Given the description of an element on the screen output the (x, y) to click on. 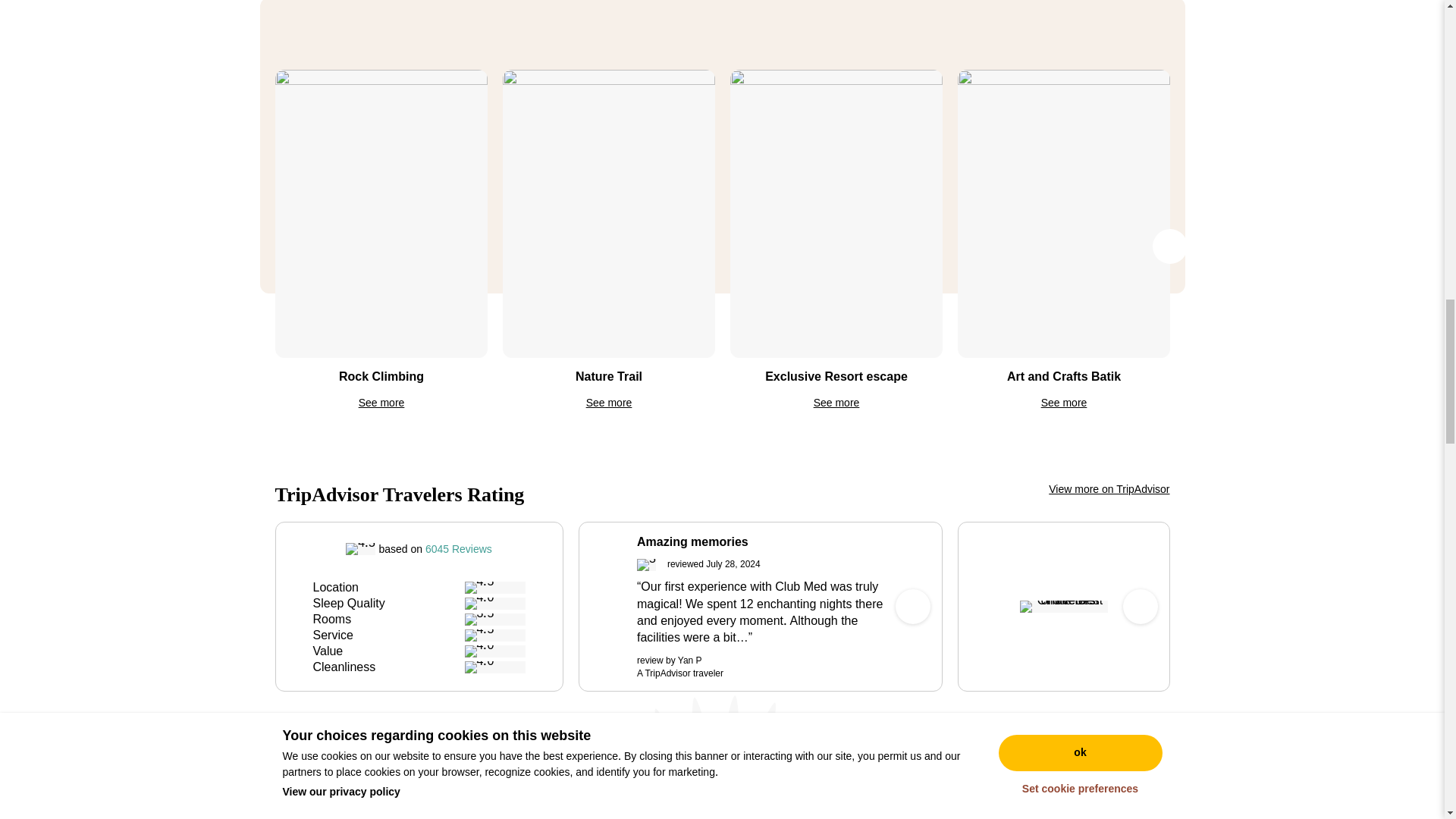
Amazing memories (760, 541)
